Given the description of an element on the screen output the (x, y) to click on. 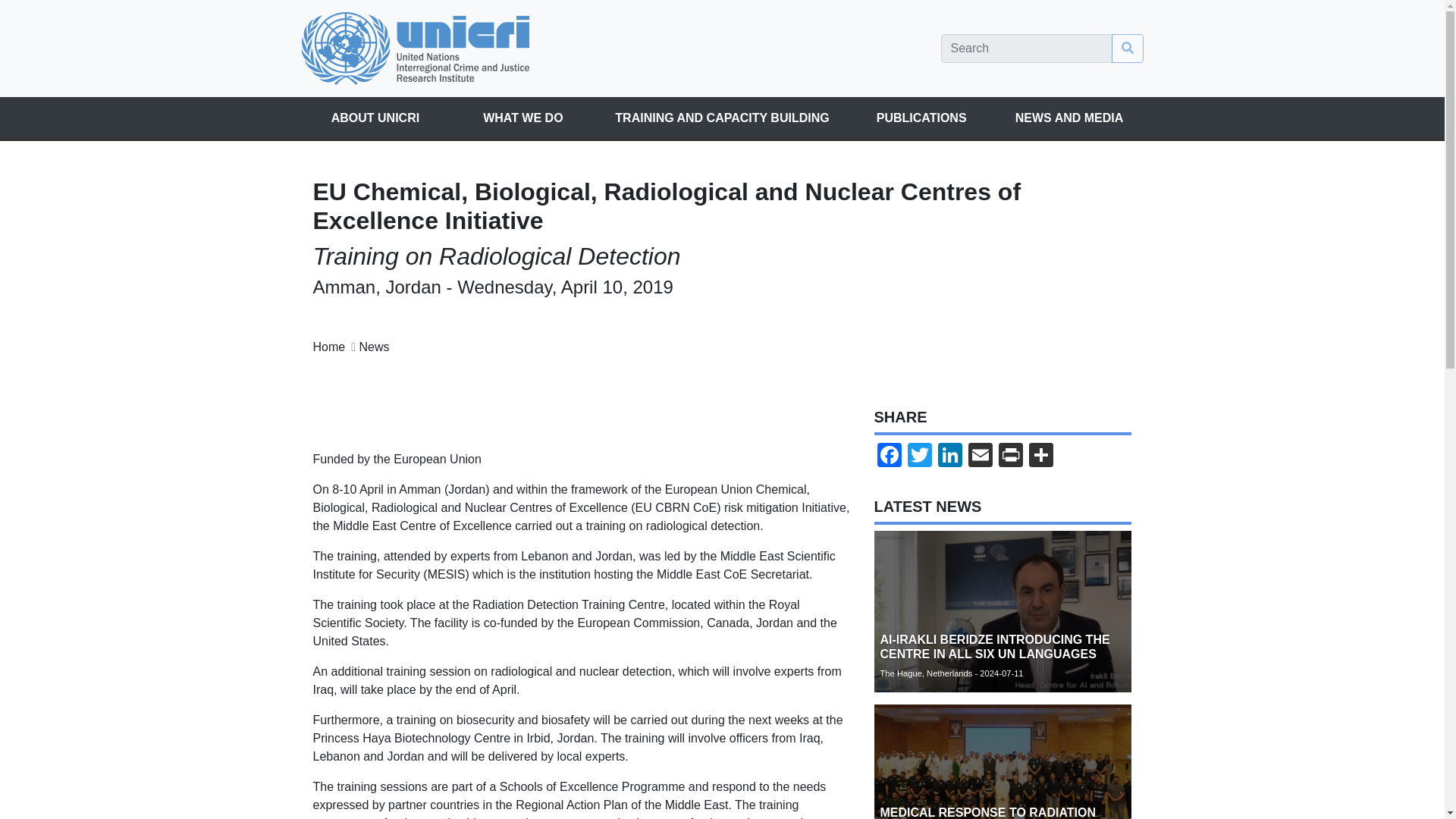
WHAT WE DO (522, 118)
TRAINING AND CAPACITY BUILDING (721, 118)
ABOUT UNICRI (375, 118)
